Given the description of an element on the screen output the (x, y) to click on. 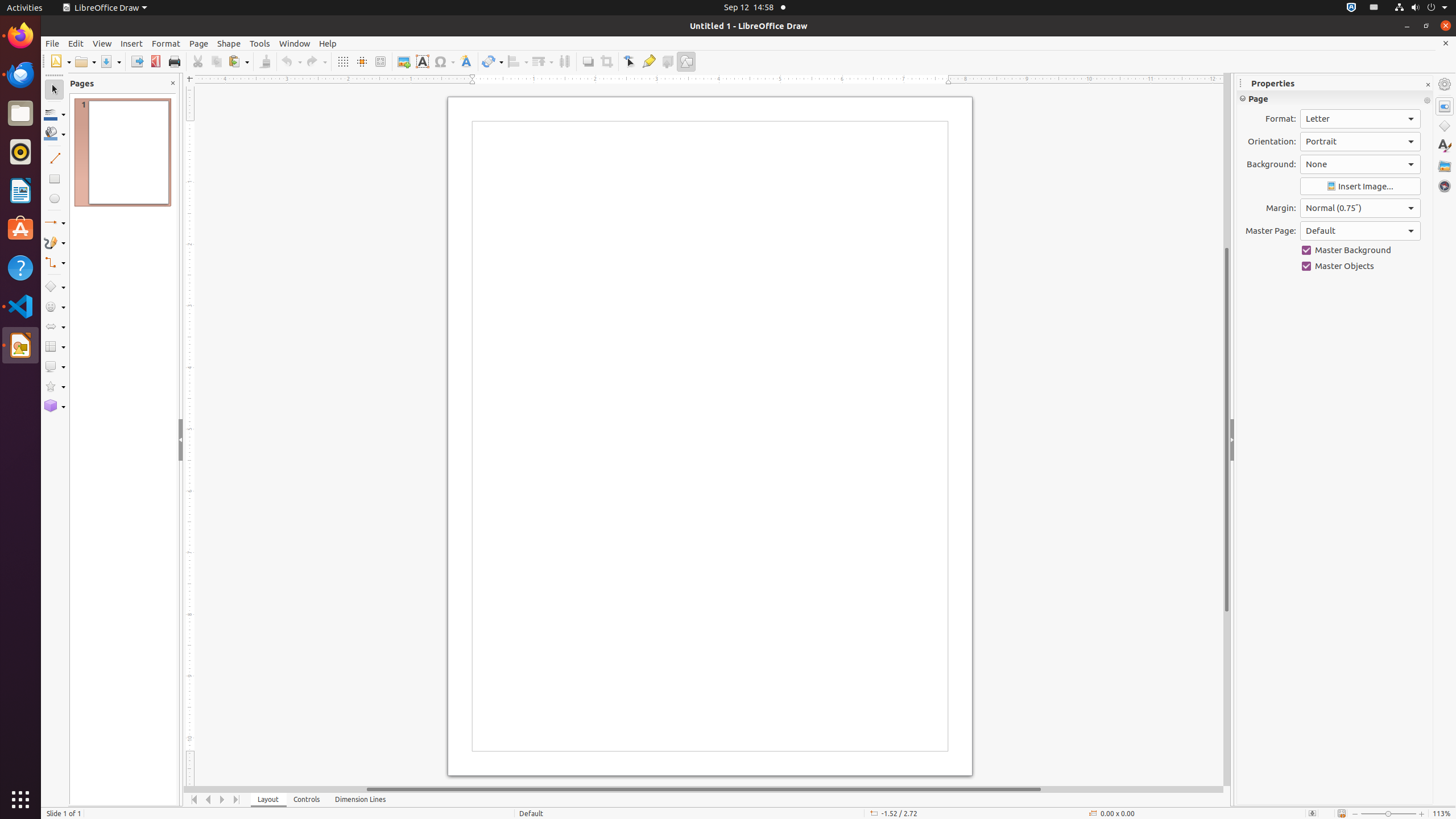
Draw Functions Element type: toggle-button (685, 61)
Callout Shapes Element type: push-button (54, 366)
Move Left Element type: push-button (208, 799)
Rhythmbox Element type: push-button (20, 151)
Print Element type: push-button (173, 61)
